Given the description of an element on the screen output the (x, y) to click on. 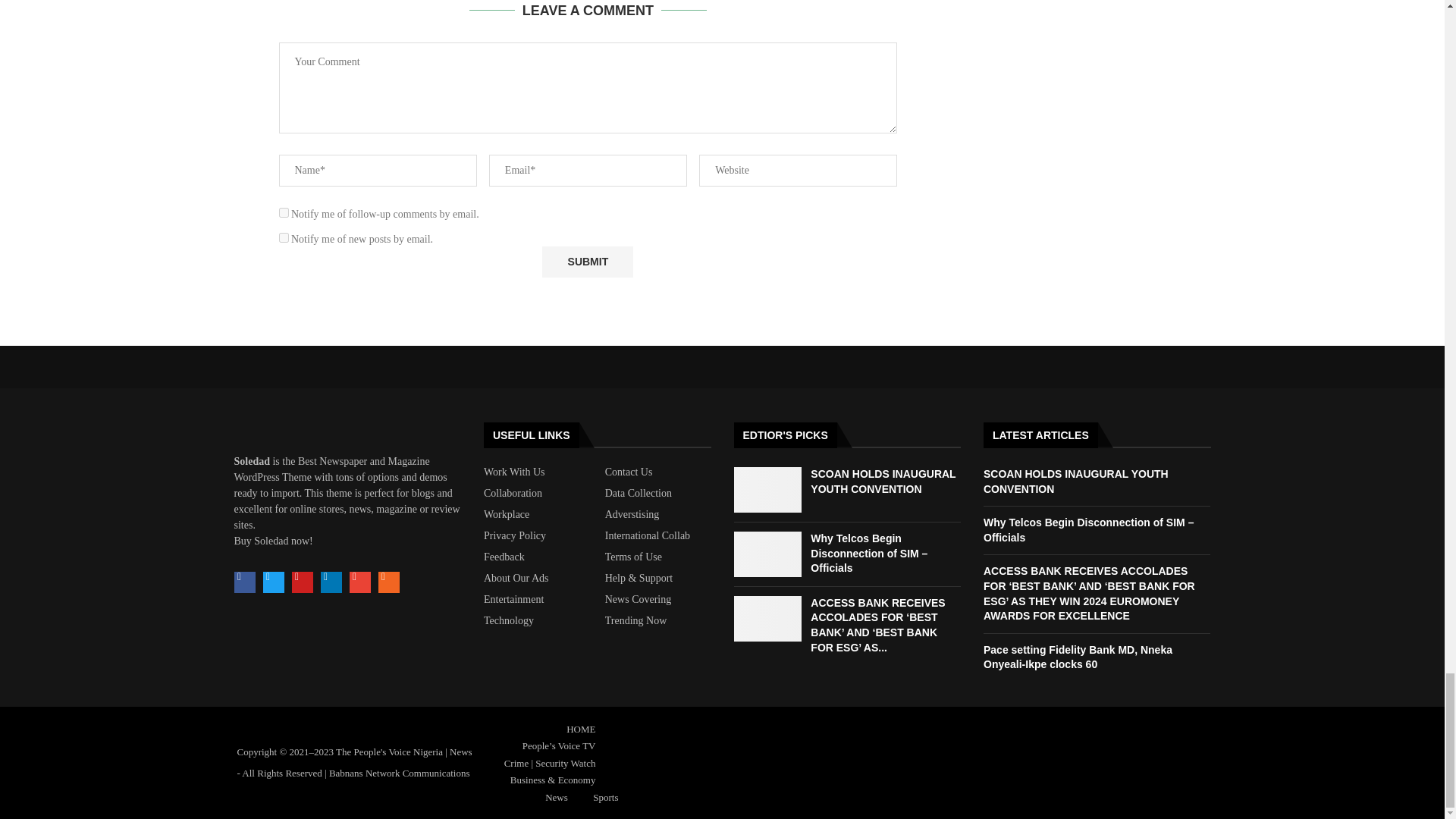
subscribe (283, 212)
Submit (587, 261)
subscribe (283, 237)
